Given the description of an element on the screen output the (x, y) to click on. 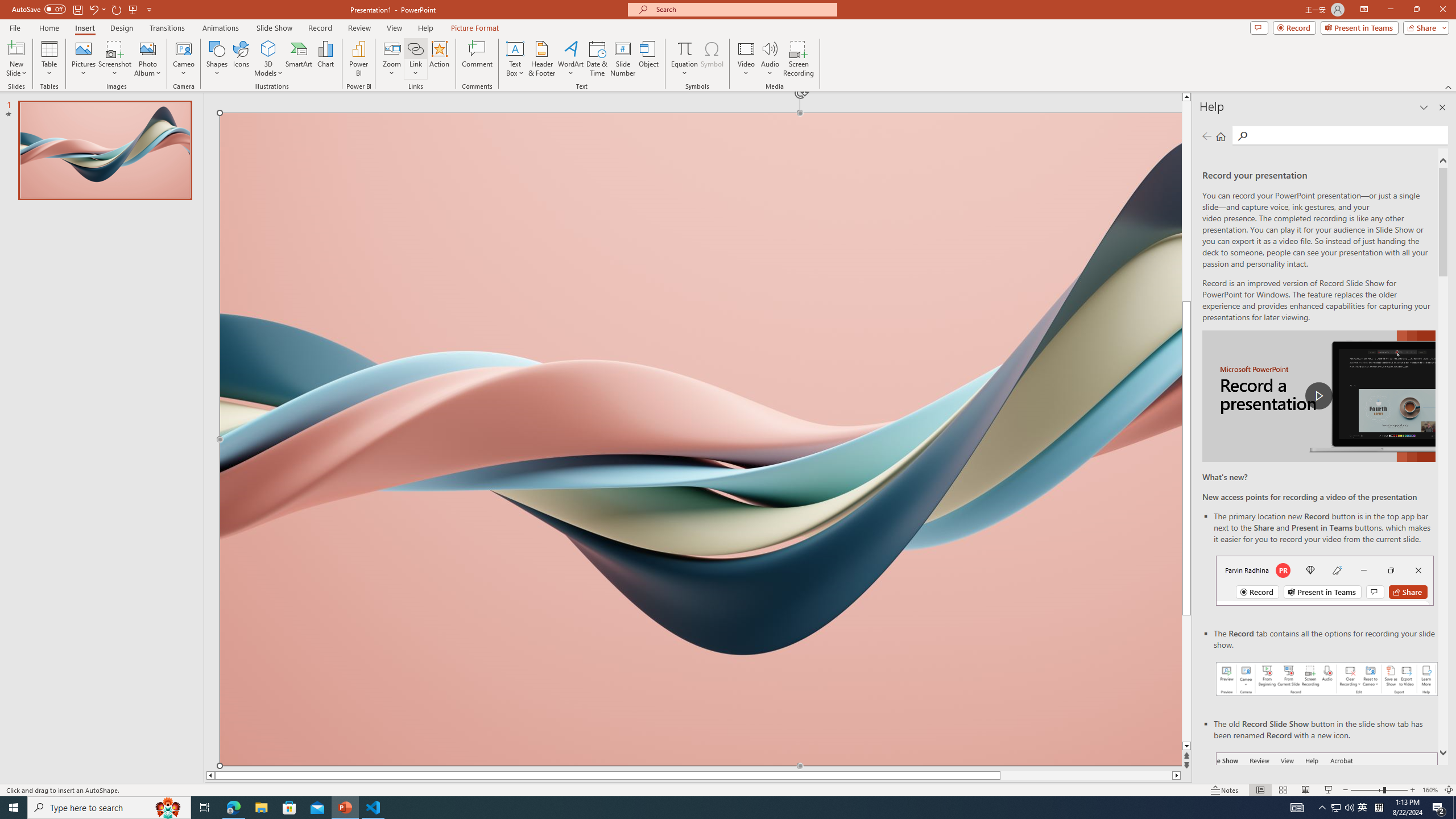
Power BI (358, 58)
Draw Horizontal Text Box (515, 48)
3D Models (268, 58)
Link (415, 48)
